Given the description of an element on the screen output the (x, y) to click on. 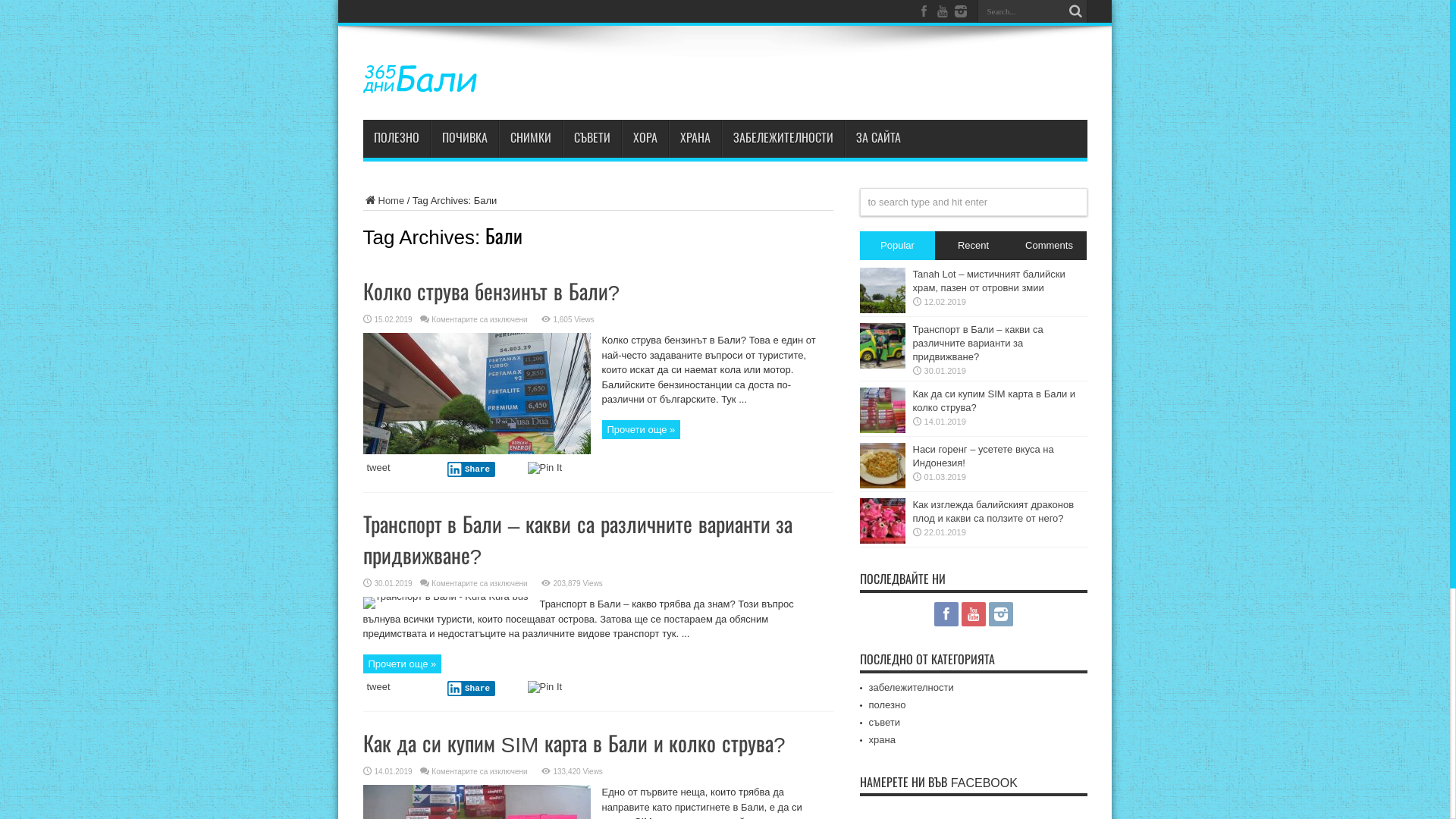
Recent Element type: text (972, 245)
Comments Element type: text (1048, 245)
tweet Element type: text (378, 686)
Share Element type: text (471, 468)
Search Element type: text (1075, 11)
Home Element type: text (383, 200)
Pin It Element type: hover (544, 467)
tweet Element type: text (378, 467)
Share Element type: text (471, 688)
Popular Element type: text (897, 245)
Pin It Element type: hover (544, 686)
